Given the description of an element on the screen output the (x, y) to click on. 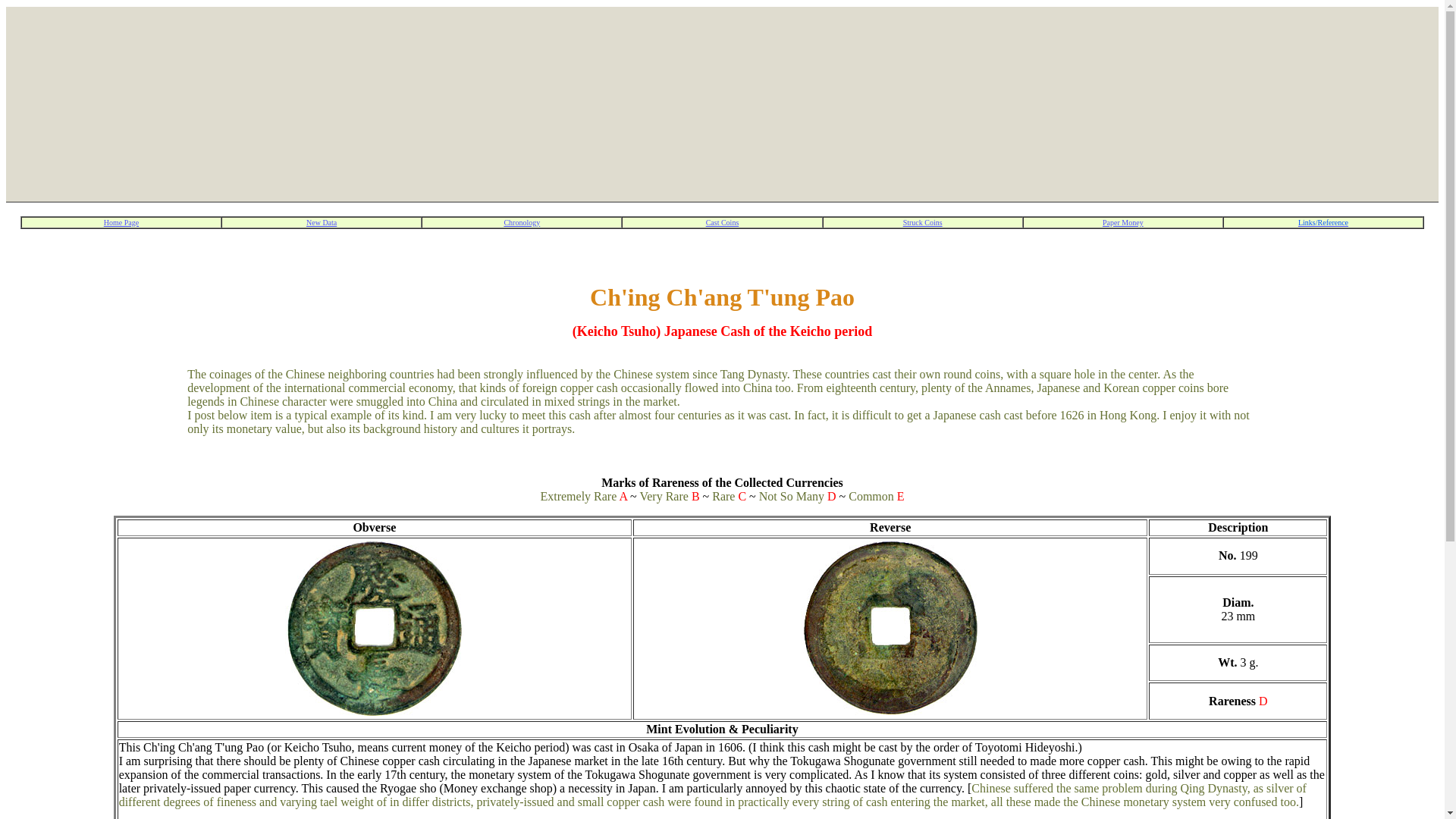
New Data (320, 220)
Struck Coins (922, 220)
Home Page (120, 220)
Chronology (521, 220)
Paper Money (1122, 220)
Cast Coins (722, 220)
